Given the description of an element on the screen output the (x, y) to click on. 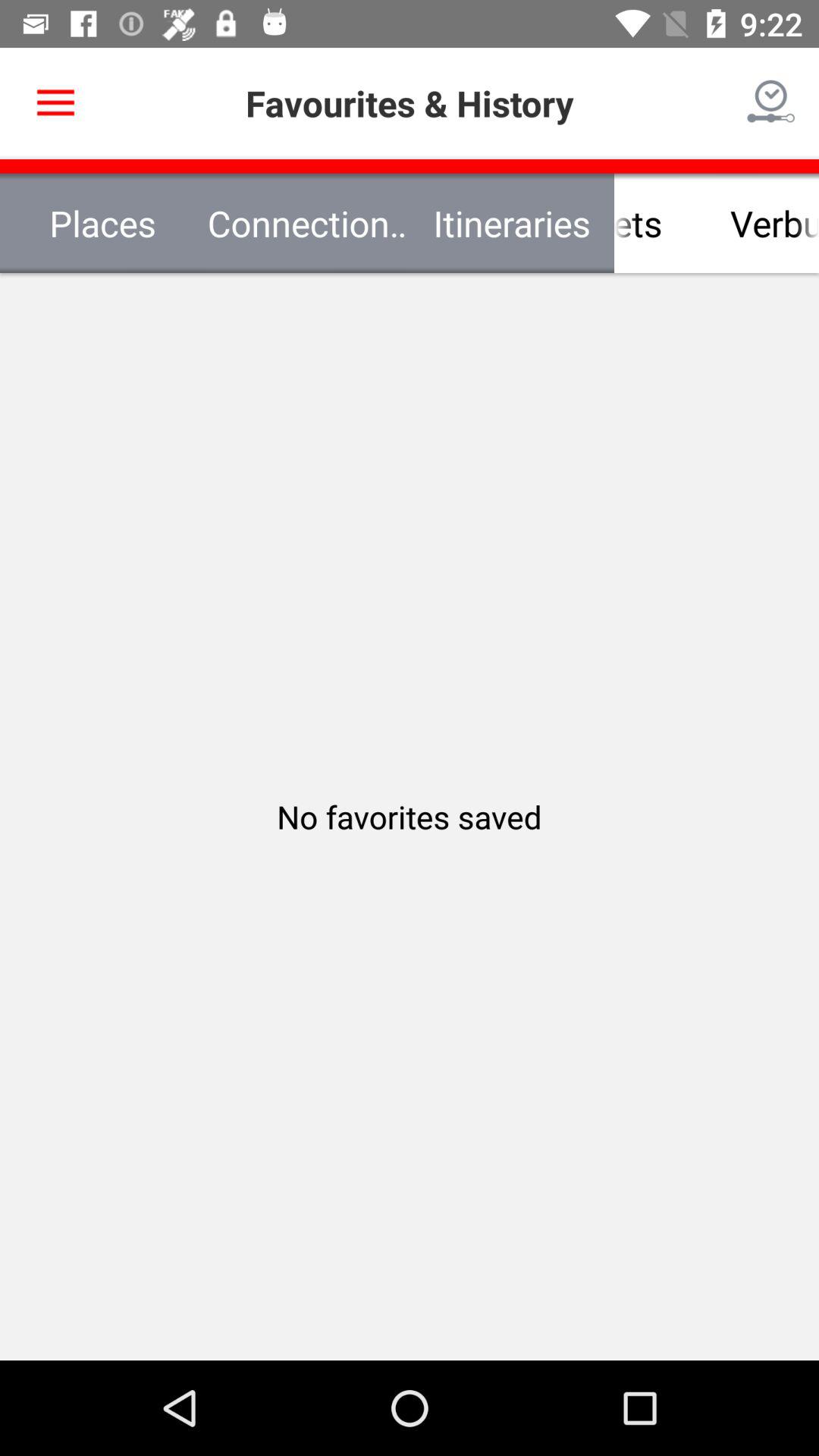
turn on the item next to connection requests icon (614, 223)
